Given the description of an element on the screen output the (x, y) to click on. 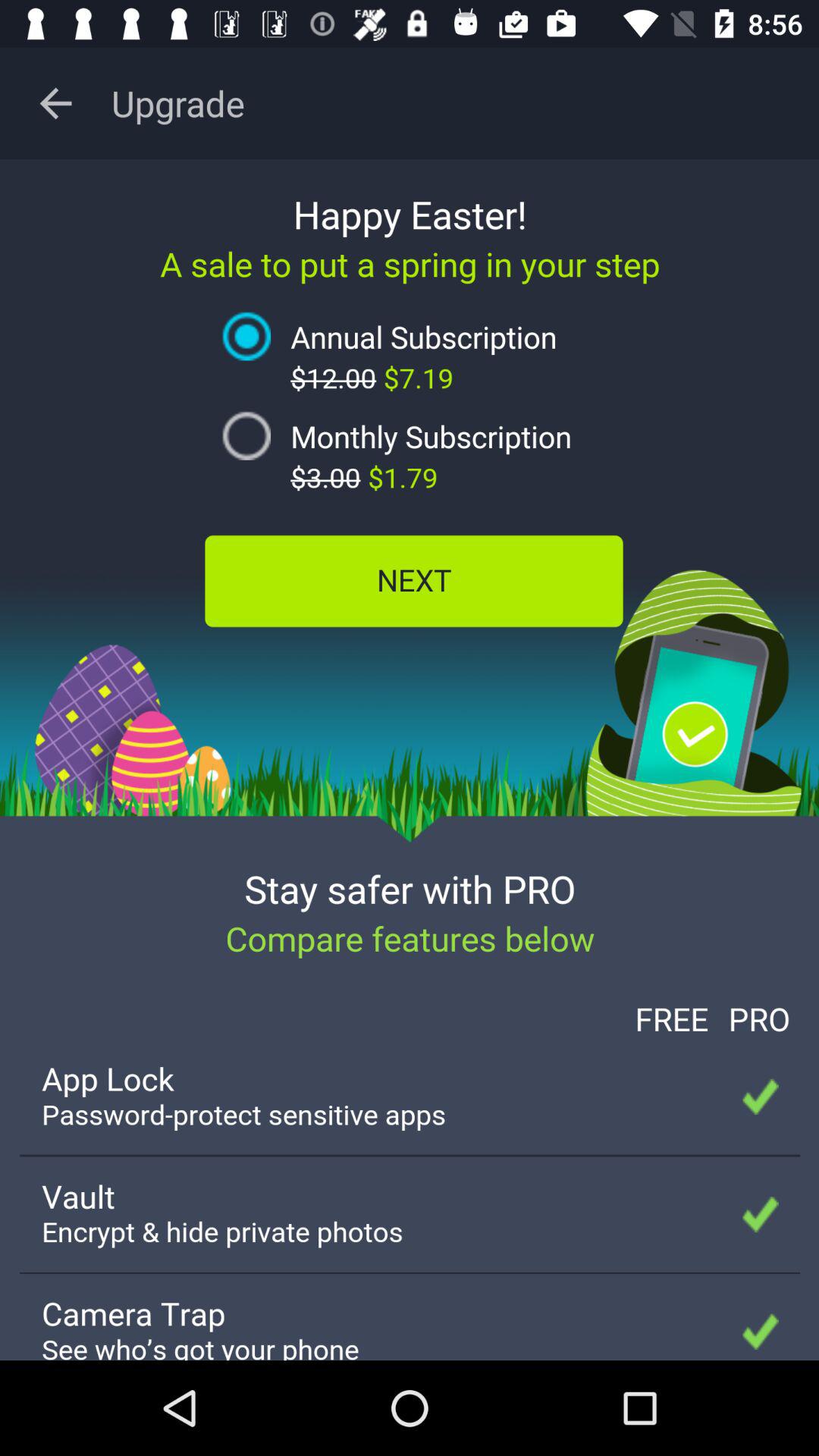
go back (55, 103)
